Given the description of an element on the screen output the (x, y) to click on. 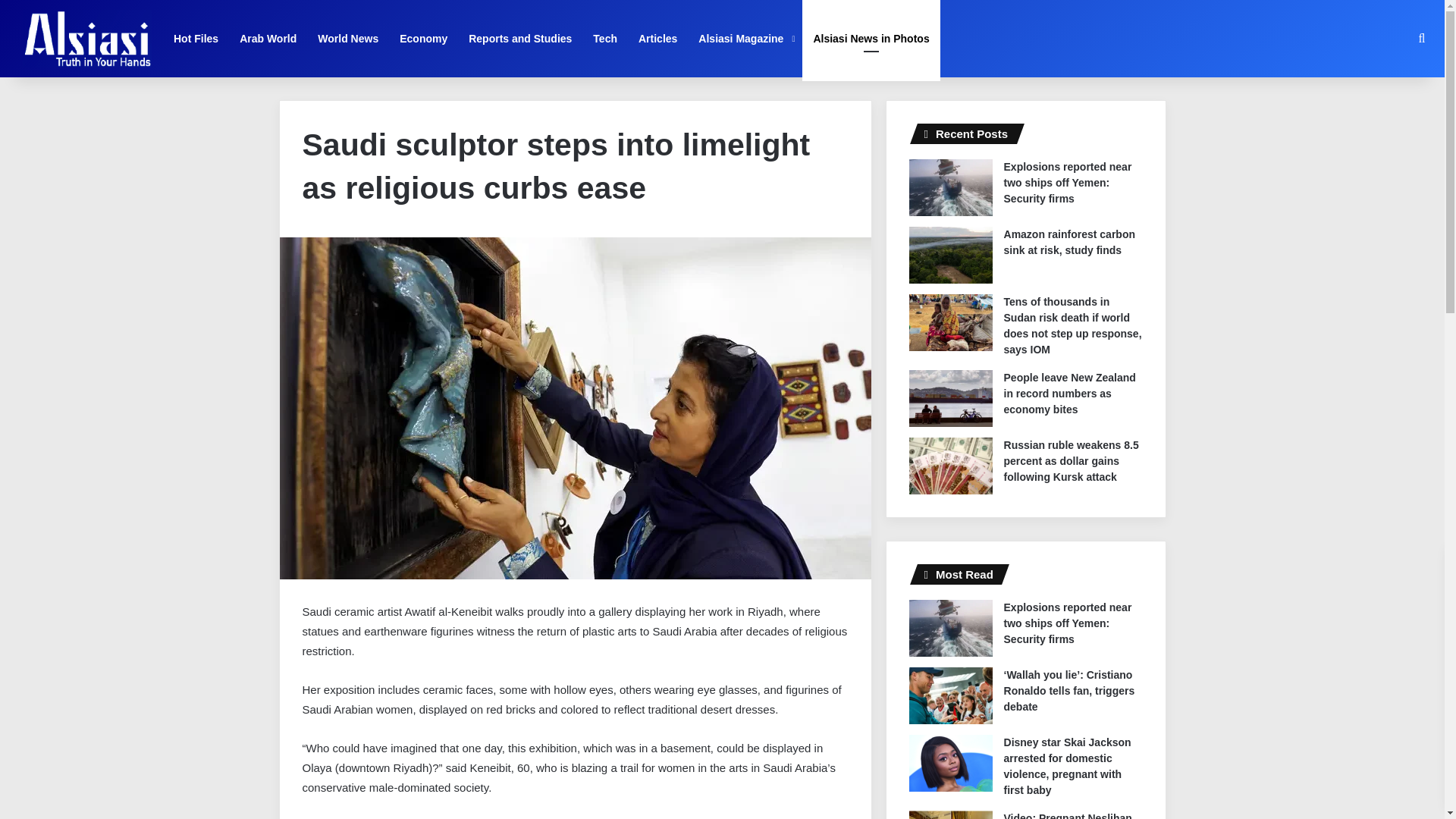
Economy (423, 38)
World News (347, 38)
Alsiasi (87, 38)
Alsiasi Magazine (744, 38)
Alsiasi News in Photos (870, 38)
Arab World (267, 38)
Reports and Studies (520, 38)
